Given the description of an element on the screen output the (x, y) to click on. 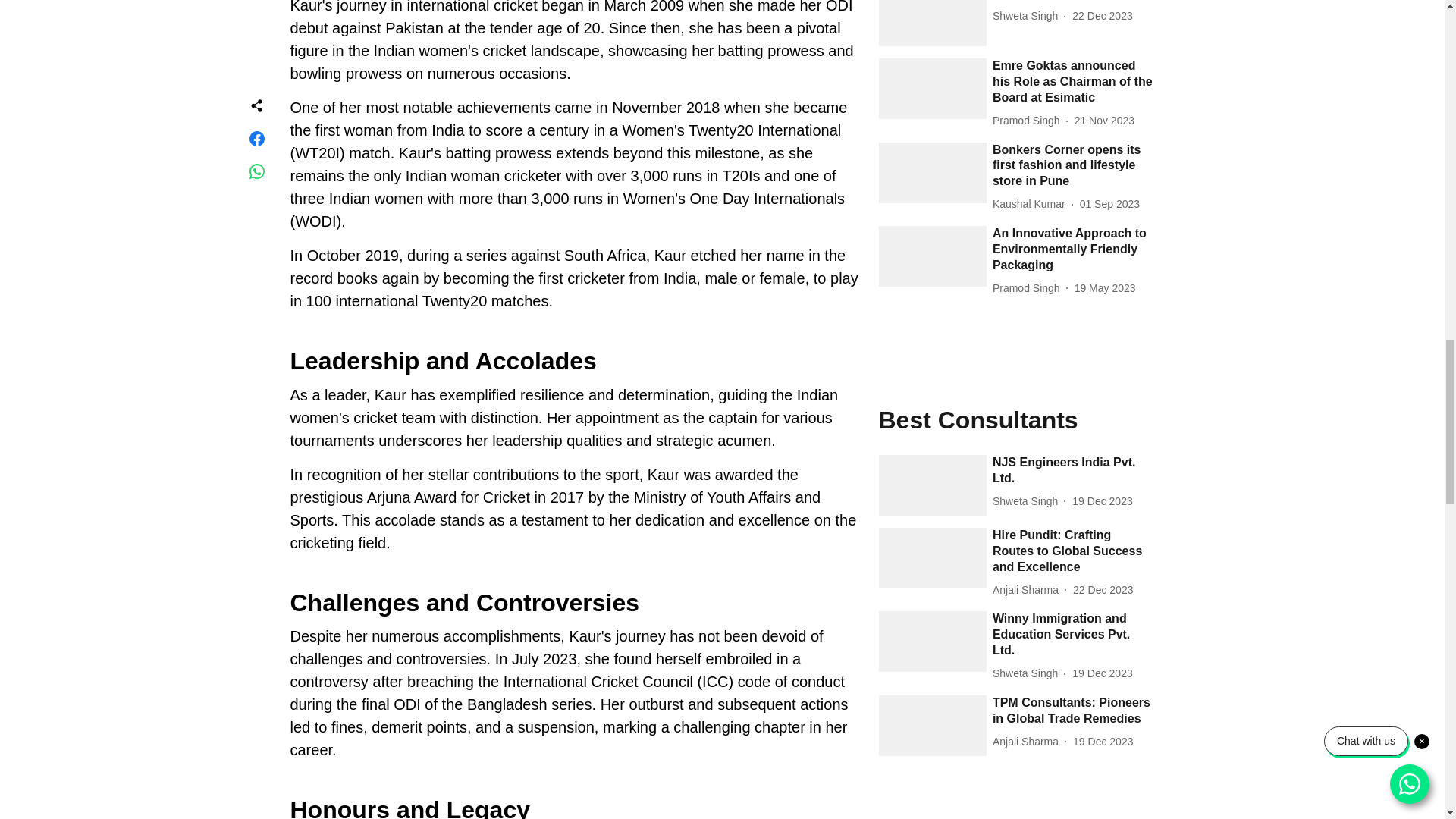
2023-09-01 05:01 (1110, 204)
2023-11-21 04:38 (1104, 120)
2023-12-19 04:57 (1101, 501)
2023-12-19 05:43 (1102, 741)
2023-12-22 10:01 (1101, 16)
3rd party ad content (1015, 808)
2023-05-19 12:30 (1104, 288)
2023-12-22 09:45 (1102, 590)
2023-12-19 05:49 (1101, 673)
